Given the description of an element on the screen output the (x, y) to click on. 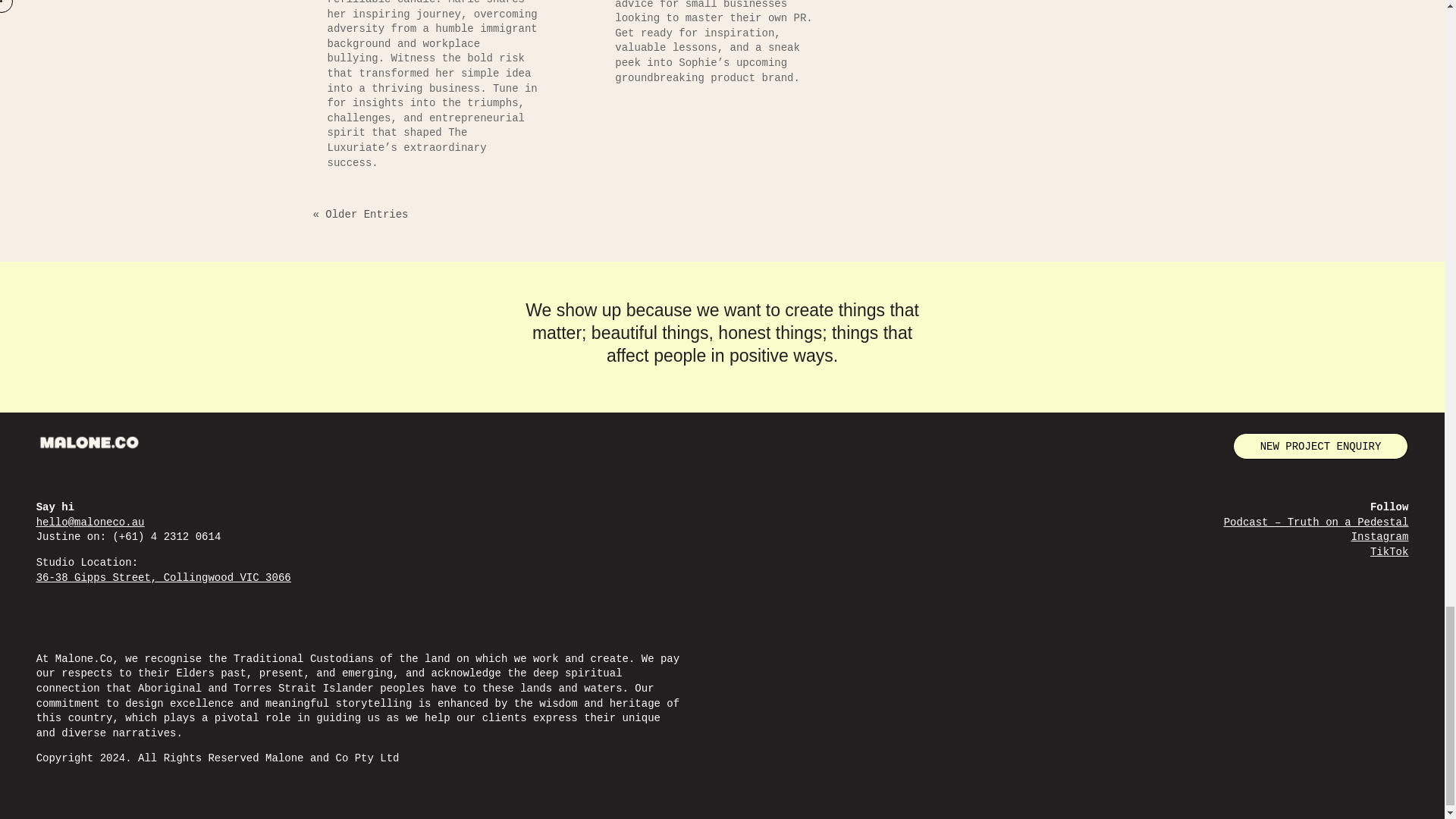
MaloneCo (89, 442)
